Given the description of an element on the screen output the (x, y) to click on. 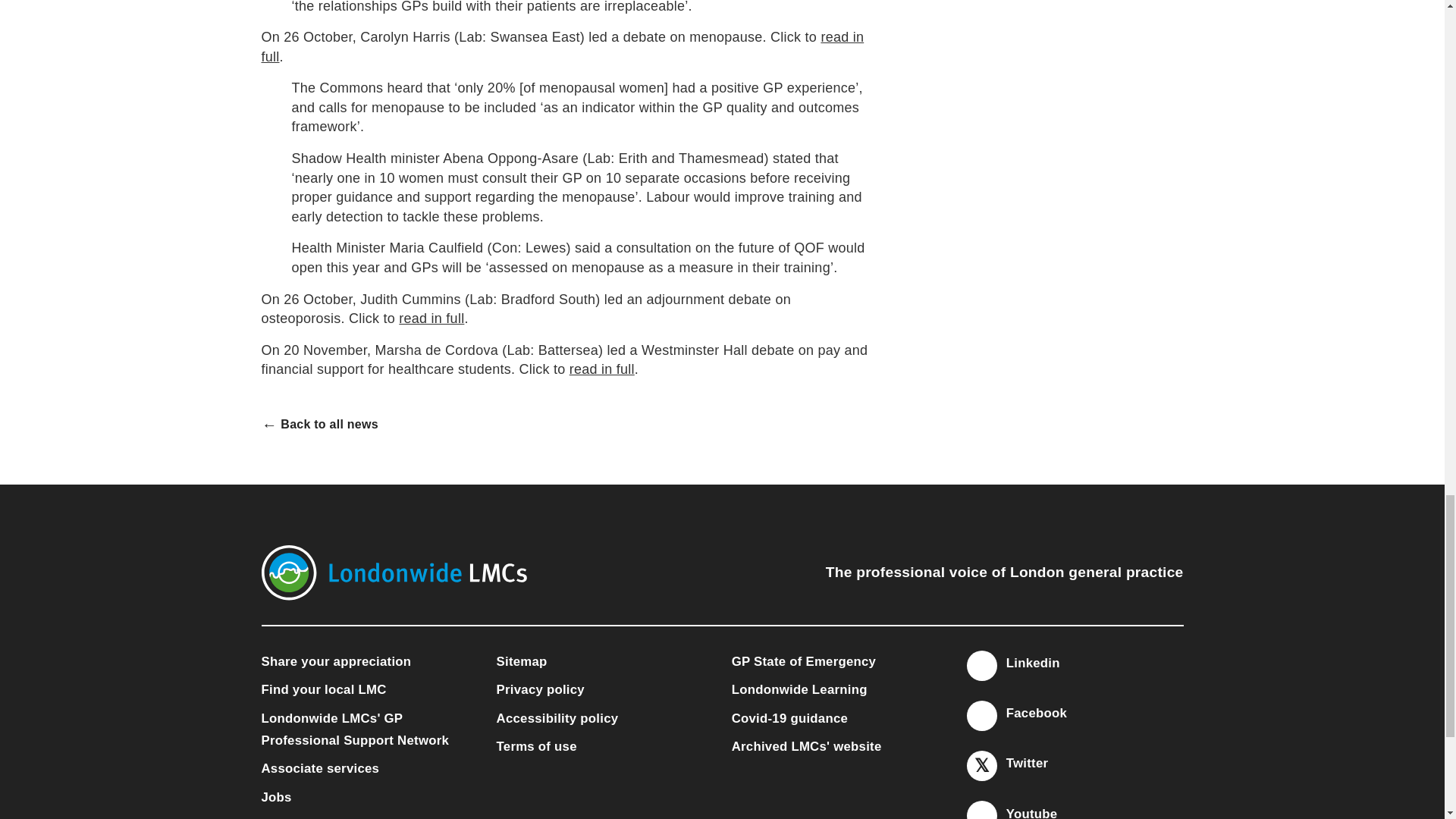
Linkedin (981, 665)
Twitter (981, 765)
Facebook (981, 715)
Youtube (981, 811)
